Given the description of an element on the screen output the (x, y) to click on. 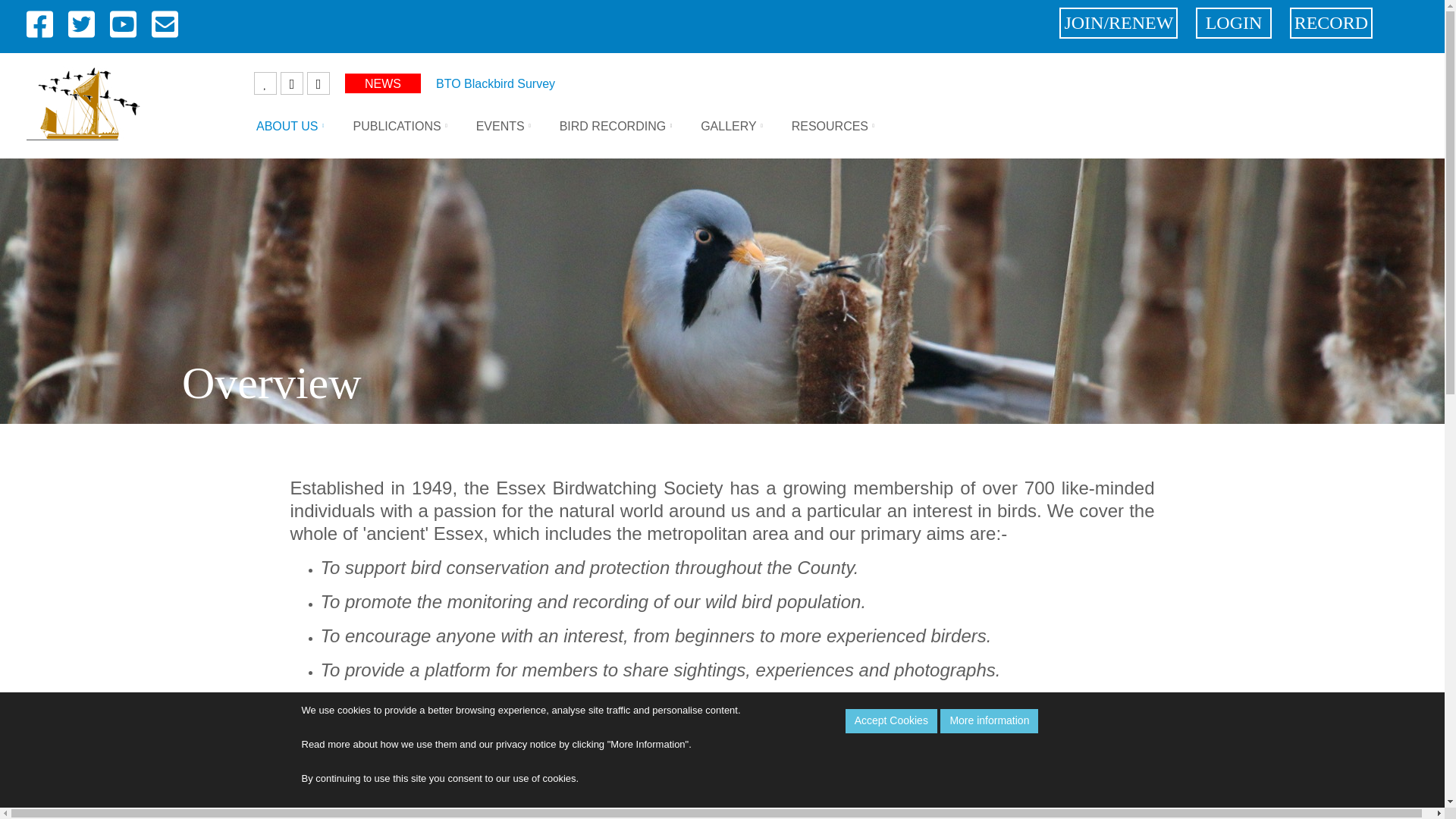
Society Events (500, 126)
RECORD (1331, 22)
About The Society (287, 126)
Join our Society (1118, 22)
Login (1233, 22)
LOGIN (1233, 22)
Society Publications (396, 126)
Record Your Sightings (1331, 22)
BTO Blackbird Survey (494, 83)
Home (82, 102)
Pause (264, 83)
